Given the description of an element on the screen output the (x, y) to click on. 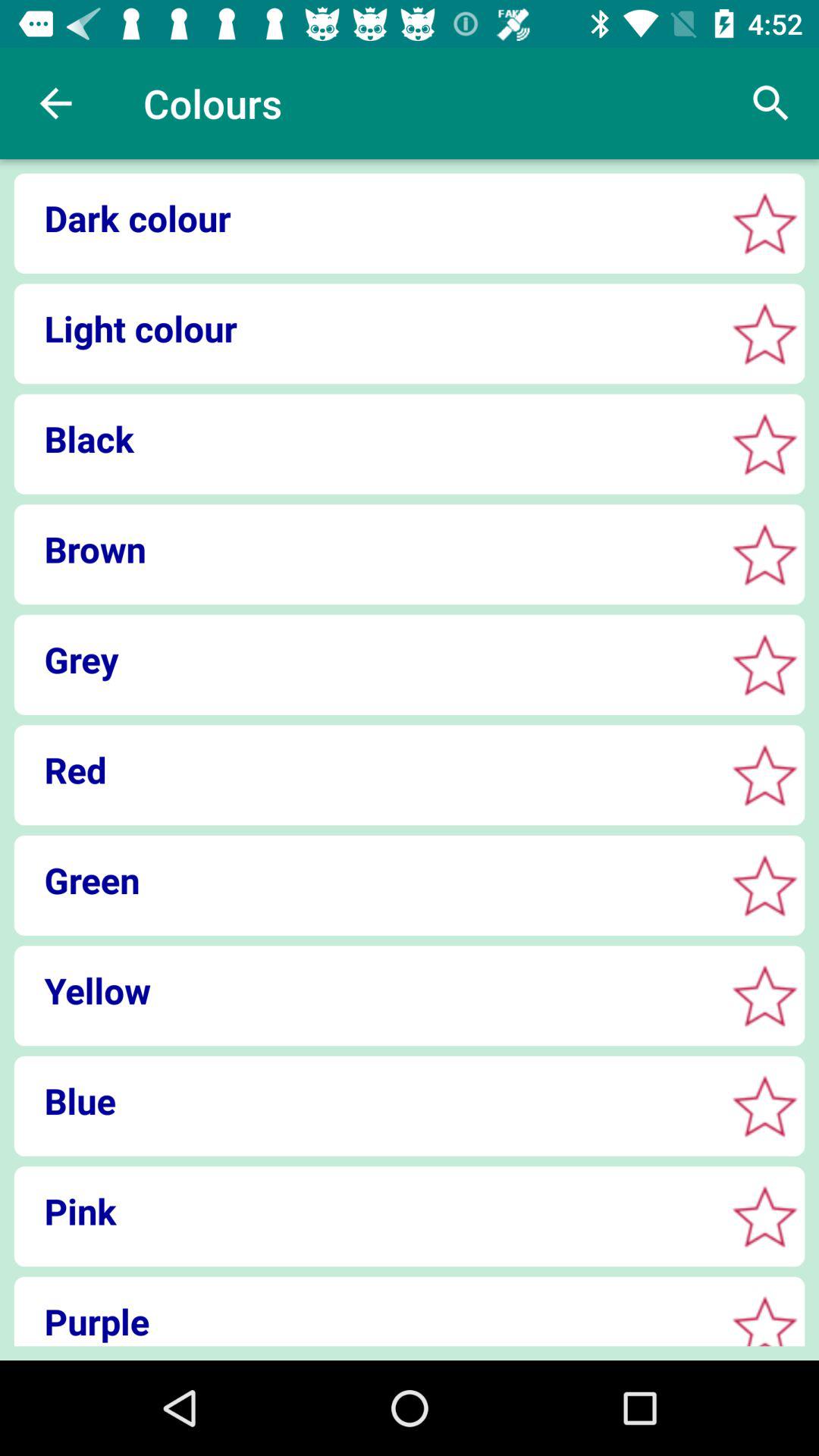
toggle brown (764, 554)
